Given the description of an element on the screen output the (x, y) to click on. 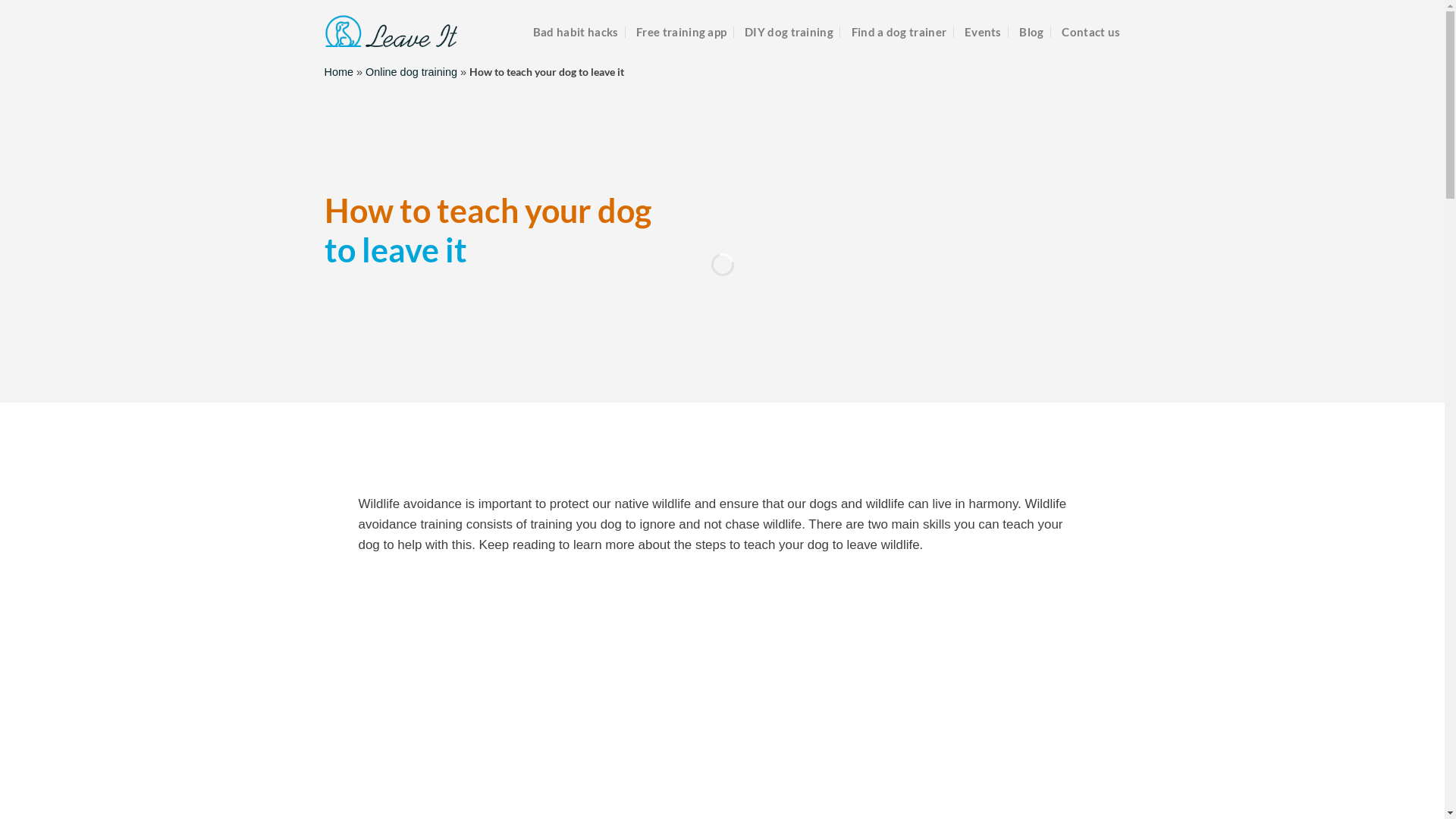
DIY dog training Element type: text (788, 31)
Events Element type: text (982, 31)
Home Element type: text (338, 71)
Blog Element type: text (1031, 31)
Contact us Element type: text (1090, 31)
Free training app Element type: text (681, 31)
Online dog training Element type: text (411, 71)
Find a dog trainer Element type: text (899, 31)
Bad habit hacks Element type: text (575, 31)
